Given the description of an element on the screen output the (x, y) to click on. 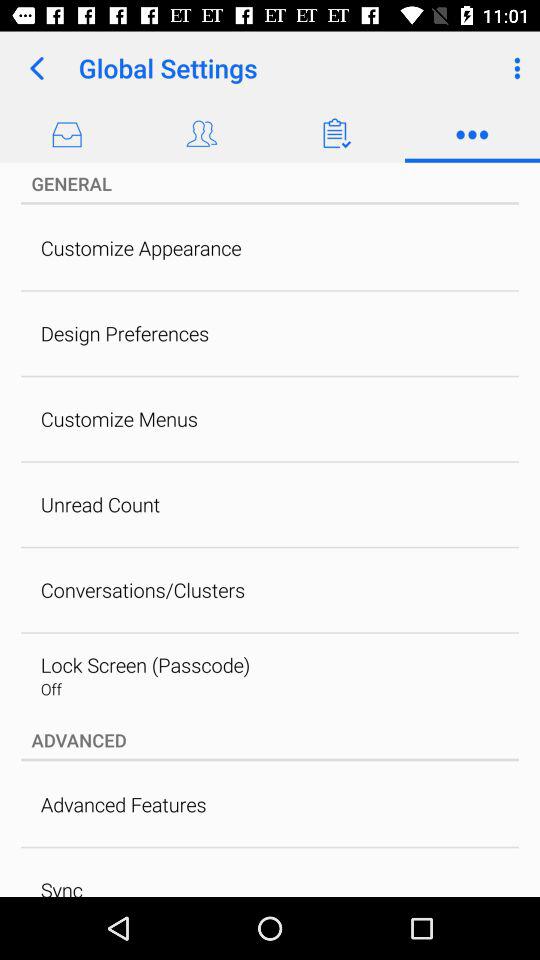
turn on the sync (61, 886)
